Given the description of an element on the screen output the (x, y) to click on. 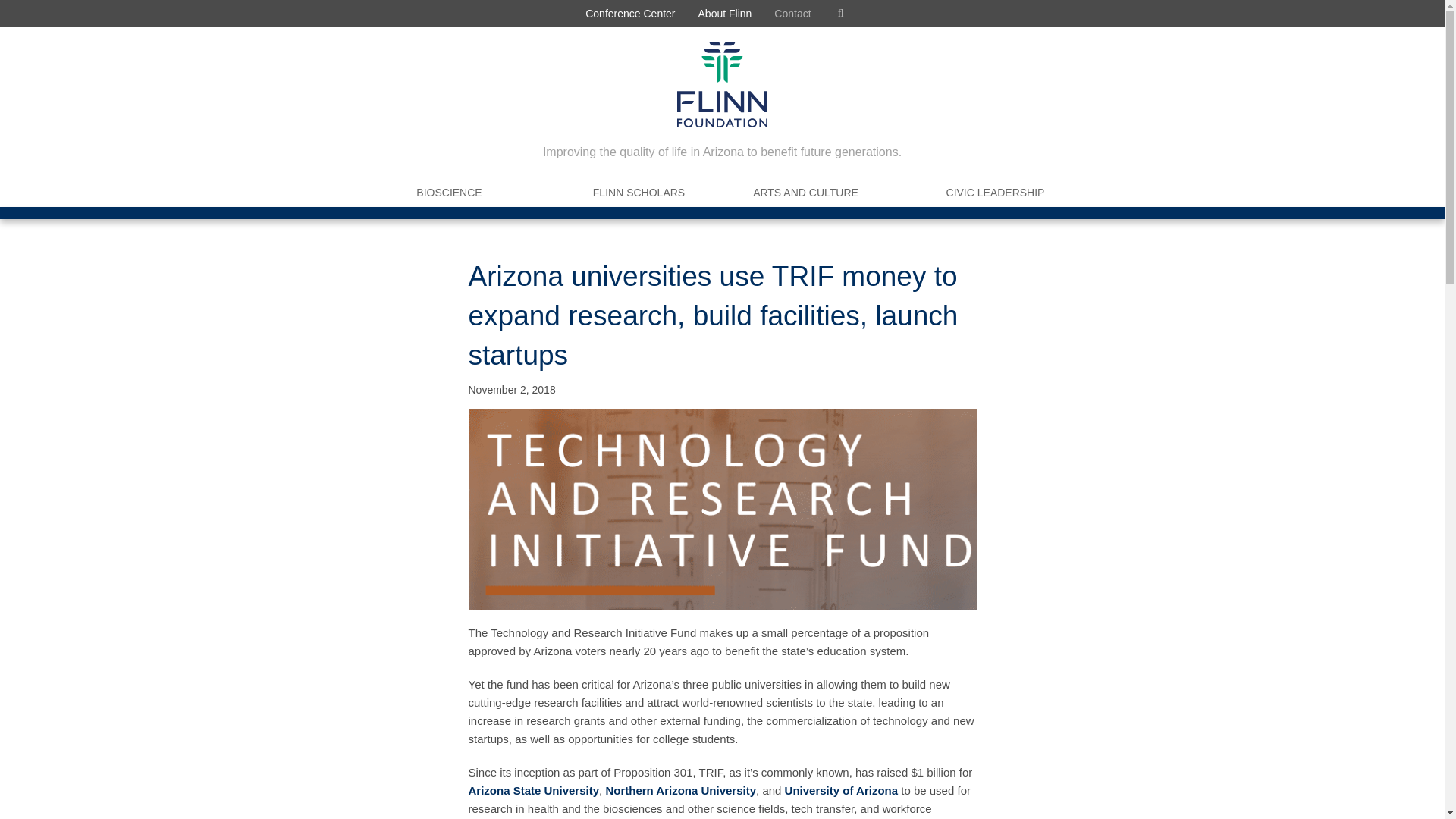
Contact (792, 13)
BIOSCIENCE (448, 192)
About Flinn (724, 13)
Conference Center (629, 13)
